Given the description of an element on the screen output the (x, y) to click on. 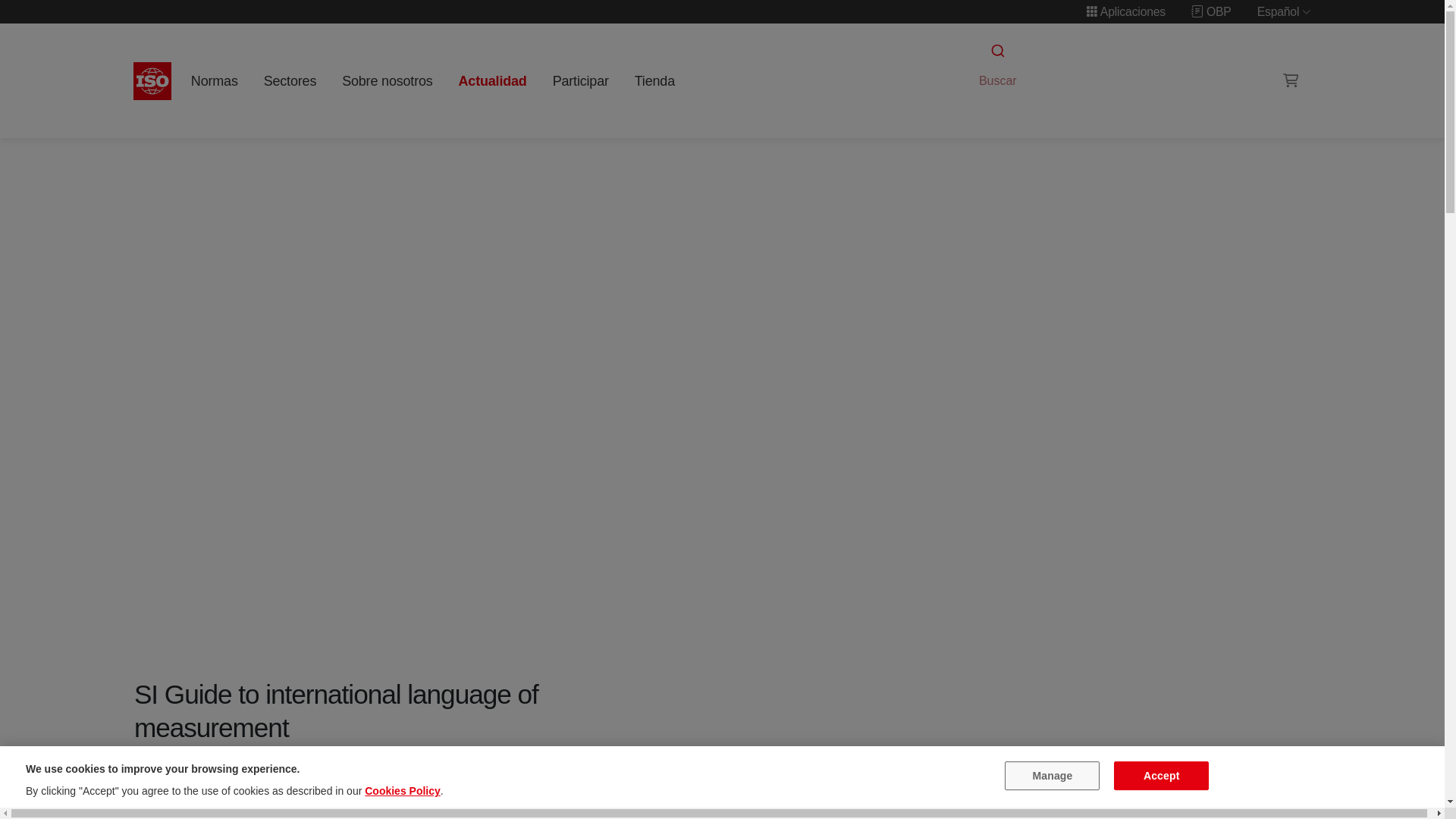
Actualidad (491, 80)
Submit (996, 51)
Participar (580, 80)
Sectores (290, 80)
Normas (214, 80)
Sobre nosotros (387, 80)
Tienda (654, 80)
 Aplicaciones (1126, 11)
Portal de aplicaciones de ISO (1126, 11)
Carro de la compra (1290, 80)
 OBP (1211, 11)
